Given the description of an element on the screen output the (x, y) to click on. 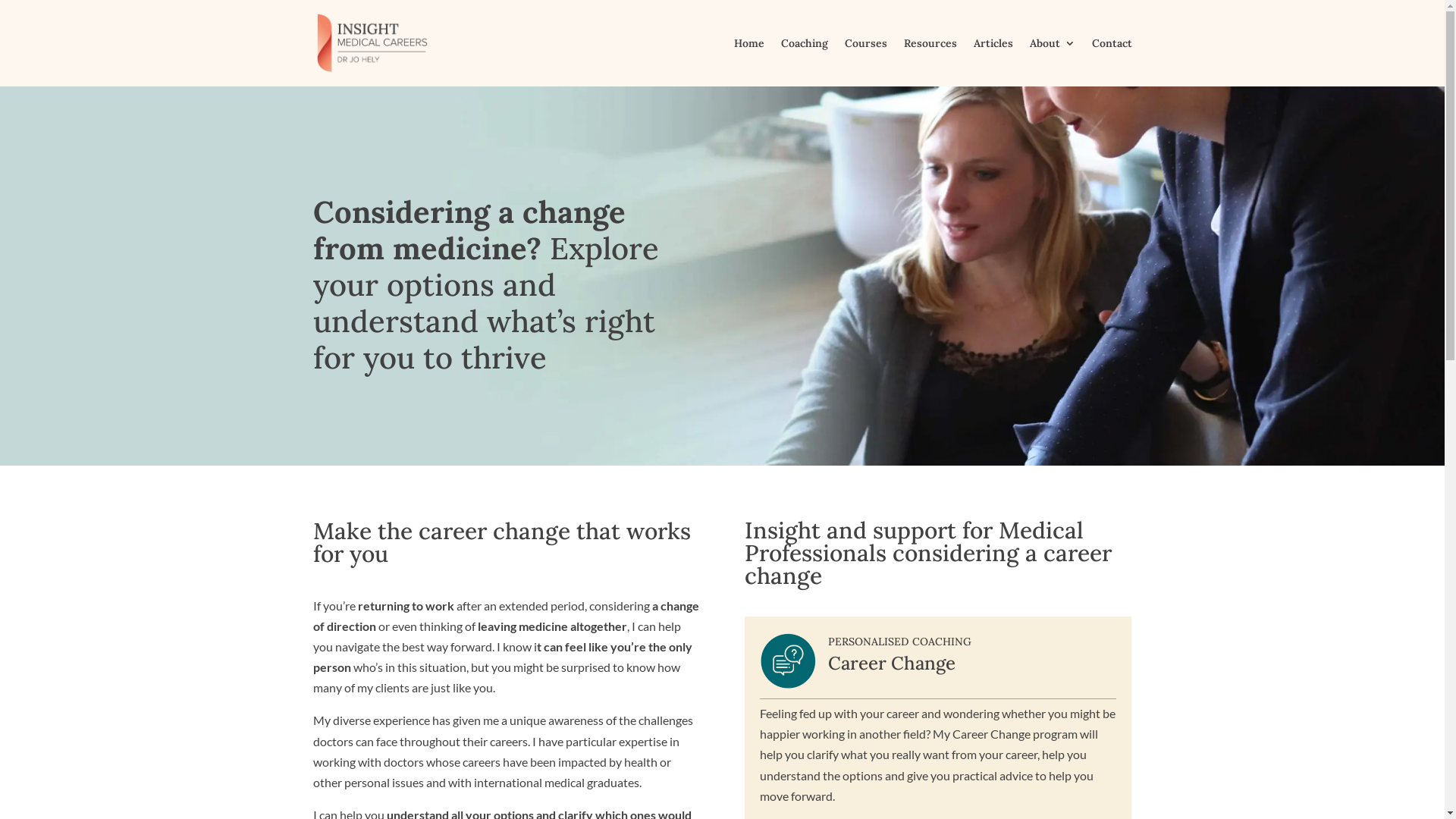
Resources Element type: text (930, 61)
Home Element type: text (749, 61)
Coaching Element type: text (804, 61)
Articles Element type: text (993, 61)
Courses Element type: text (865, 61)
Contact Element type: text (1112, 61)
About Element type: text (1052, 61)
